Given the description of an element on the screen output the (x, y) to click on. 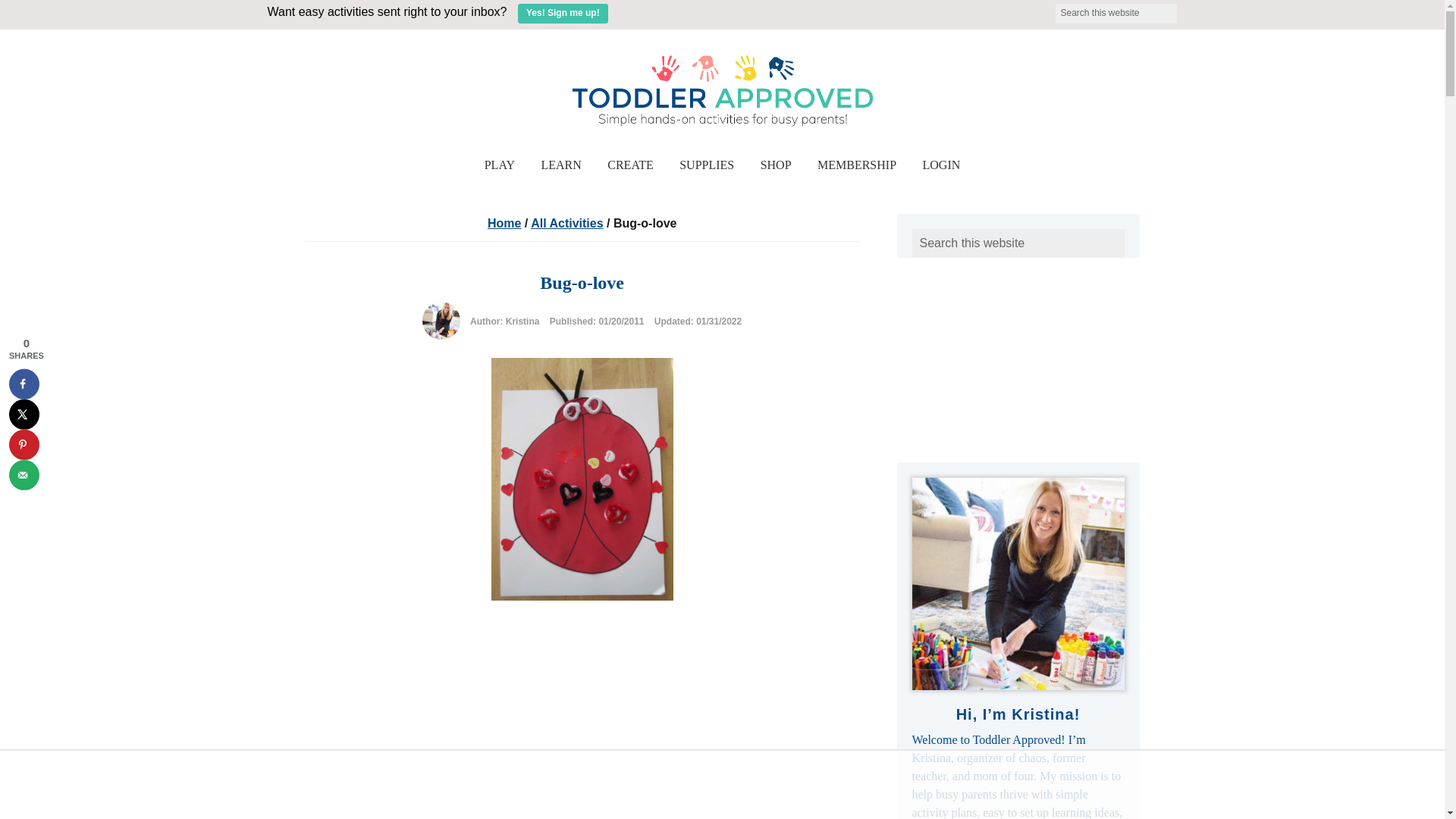
Search (1185, 8)
Save to Pinterest (23, 444)
Search (1185, 8)
Yes! Sign me up! (563, 13)
Share on Facebook (23, 383)
Send over email (23, 474)
Share on X (23, 413)
Search (1185, 8)
